Given the description of an element on the screen output the (x, y) to click on. 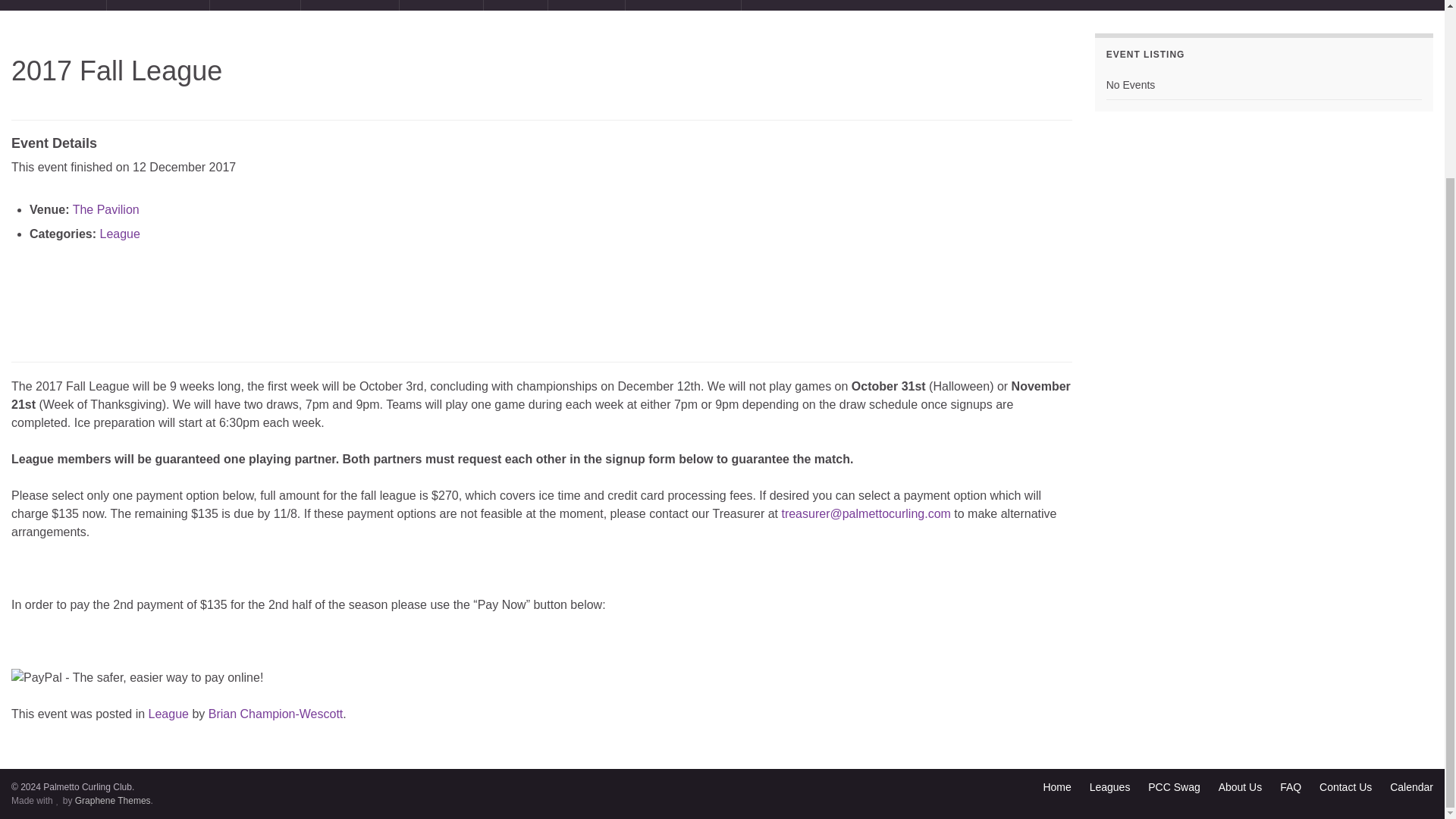
Group Events (157, 5)
Leagues (1110, 787)
League (168, 713)
Club News (254, 5)
Brian Champion-Wescott (275, 713)
Connect (586, 5)
Home (1056, 787)
The Pavilion (105, 209)
League (119, 233)
About (515, 5)
PCC Swag (440, 5)
Fundraising (349, 5)
Learn To Curl (53, 5)
PCC Swag (1173, 787)
